Given the description of an element on the screen output the (x, y) to click on. 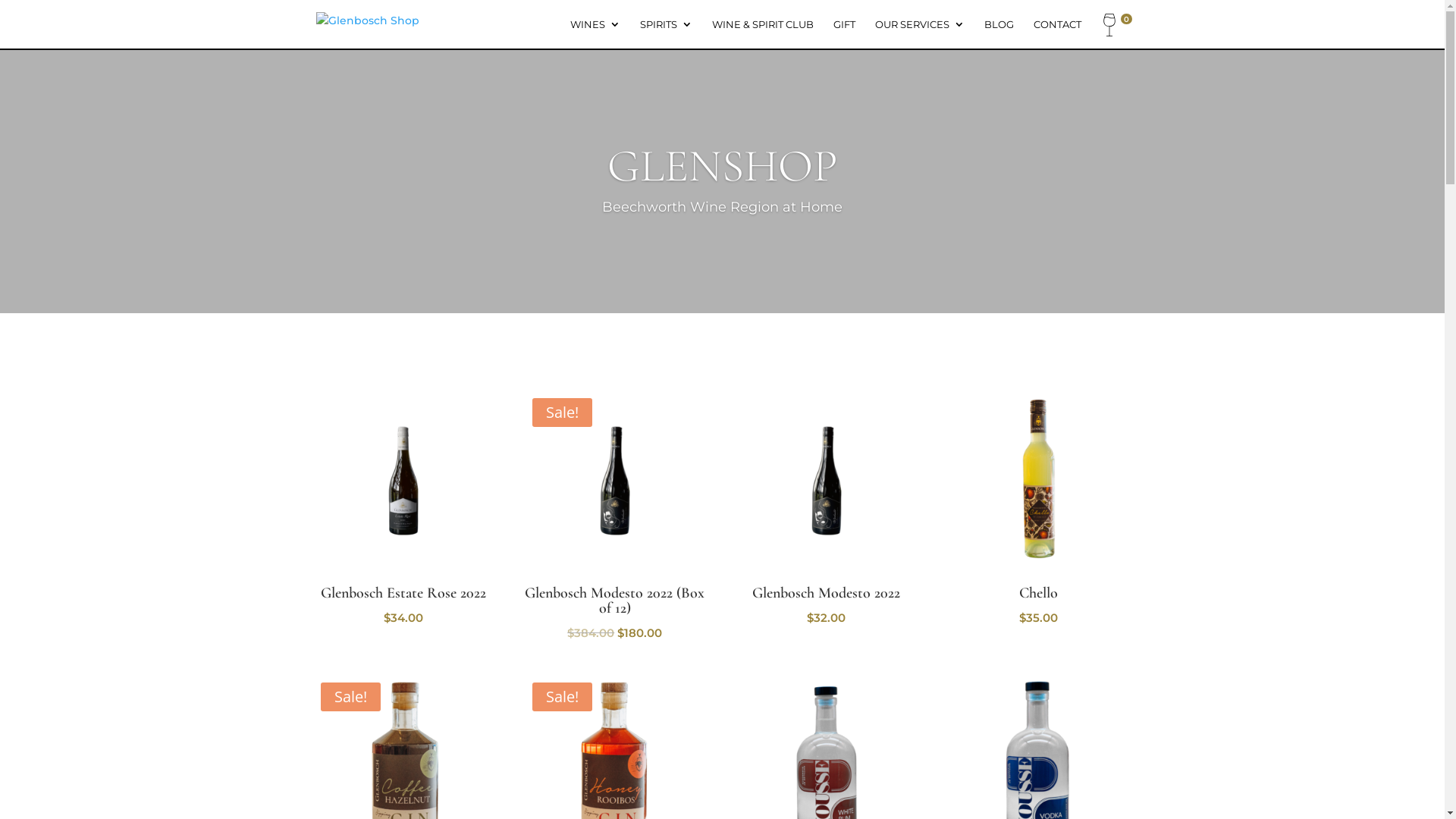
BLOG Element type: text (998, 33)
CONTACT Element type: text (1056, 33)
Sale!
Glenbosch Modesto 2022 (Box of 12)
$384.00 $180.00 Element type: text (614, 516)
SPIRITS Element type: text (666, 33)
Glenbosch Modesto 2022
$32.00 Element type: text (826, 508)
GIFT Element type: text (843, 33)
Chello
$35.00 Element type: text (1037, 508)
WINE & SPIRIT CLUB Element type: text (761, 33)
WINES Element type: text (595, 33)
Glenbosch Estate Rose 2022
$34.00 Element type: text (402, 508)
OUR SERVICES Element type: text (919, 33)
0 Element type: text (1115, 26)
